Given the description of an element on the screen output the (x, y) to click on. 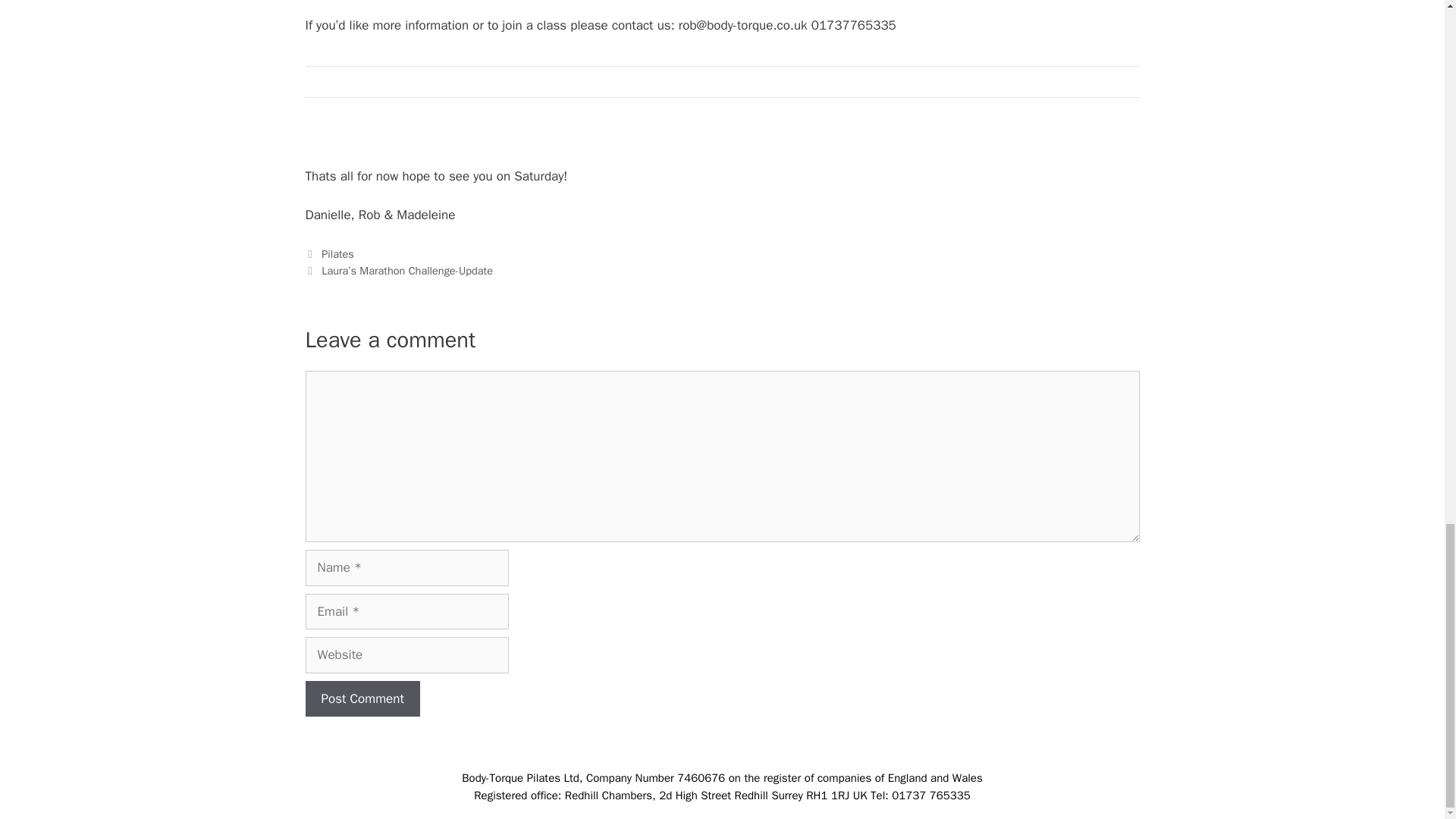
Post Comment (361, 698)
Pilates (337, 254)
Scroll back to top (1406, 60)
